Given the description of an element on the screen output the (x, y) to click on. 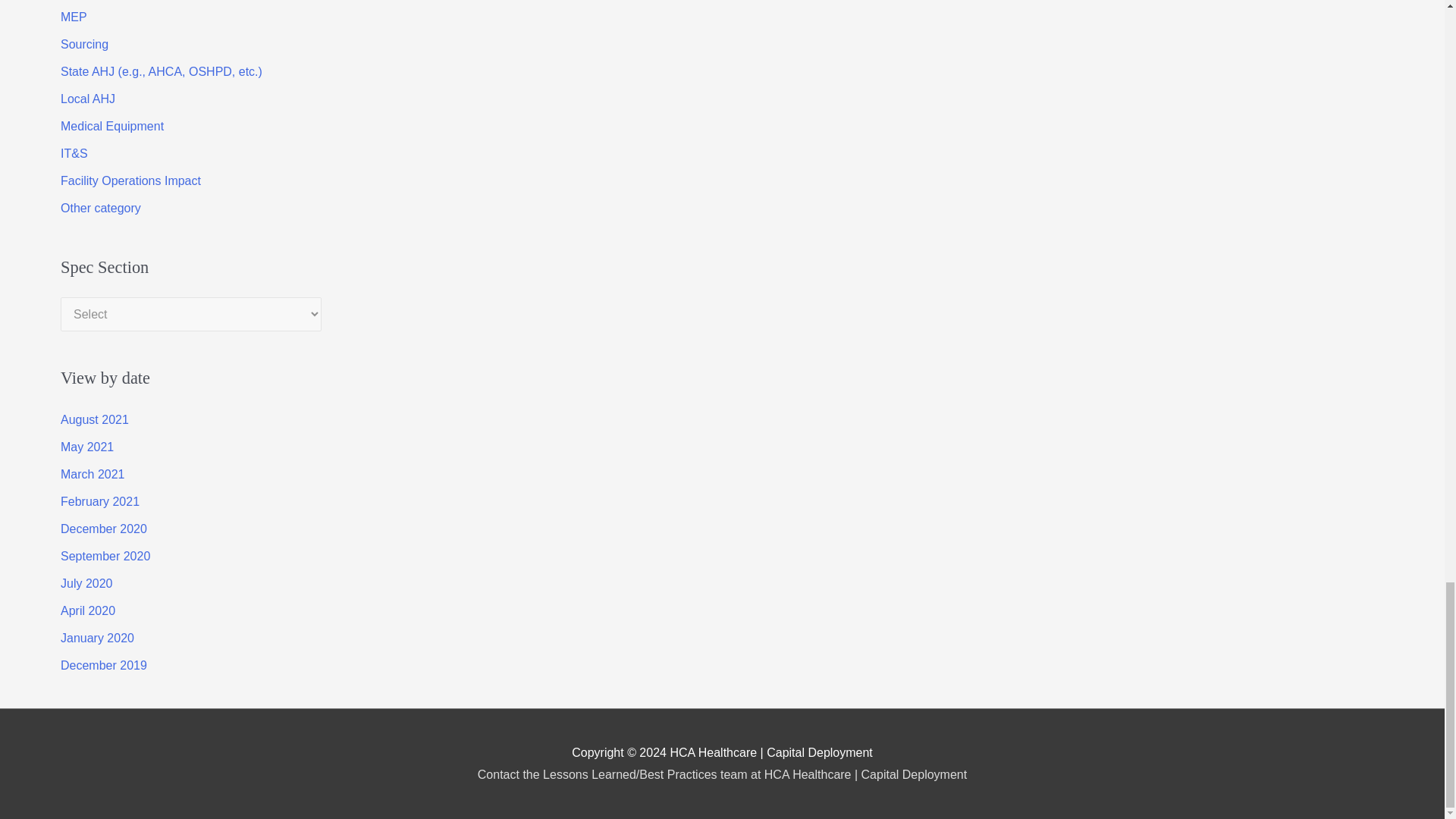
Other category (101, 207)
Medical Equipment (112, 125)
Facility Operations Impact (130, 180)
May 2021 (87, 446)
Sourcing (84, 43)
March 2021 (93, 473)
August 2021 (95, 419)
December 2020 (104, 528)
Local AHJ (88, 98)
September 2020 (105, 555)
